Given the description of an element on the screen output the (x, y) to click on. 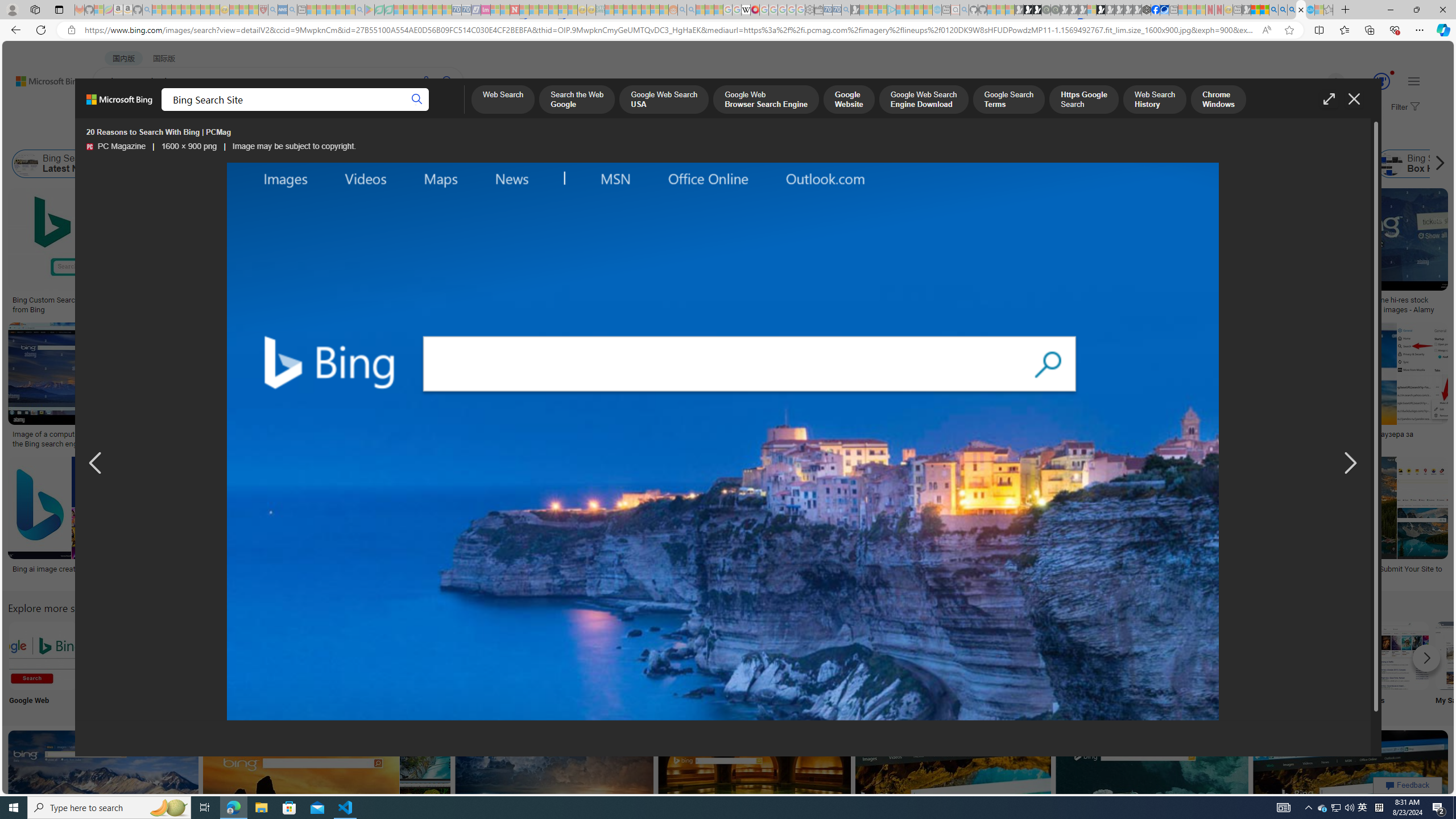
Results (644, 665)
Google Web (42, 665)
Layout (252, 135)
Internet Explorer Bing Search (192, 654)
Google Website (848, 100)
Microsoft Rewards 84 (1370, 81)
Bing Search App Icon (418, 654)
